Given the description of an element on the screen output the (x, y) to click on. 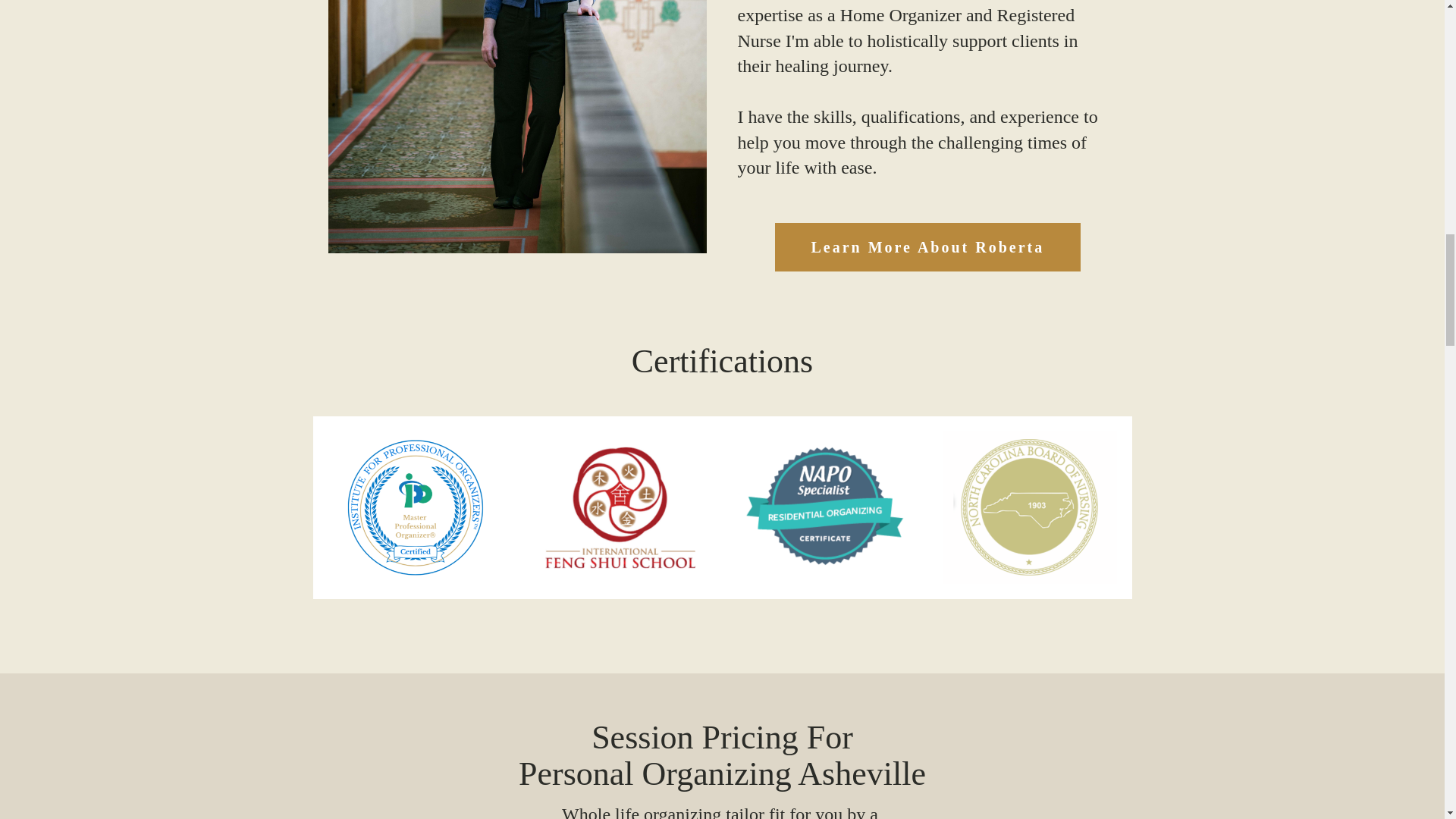
Learn More About Roberta (927, 246)
